Given the description of an element on the screen output the (x, y) to click on. 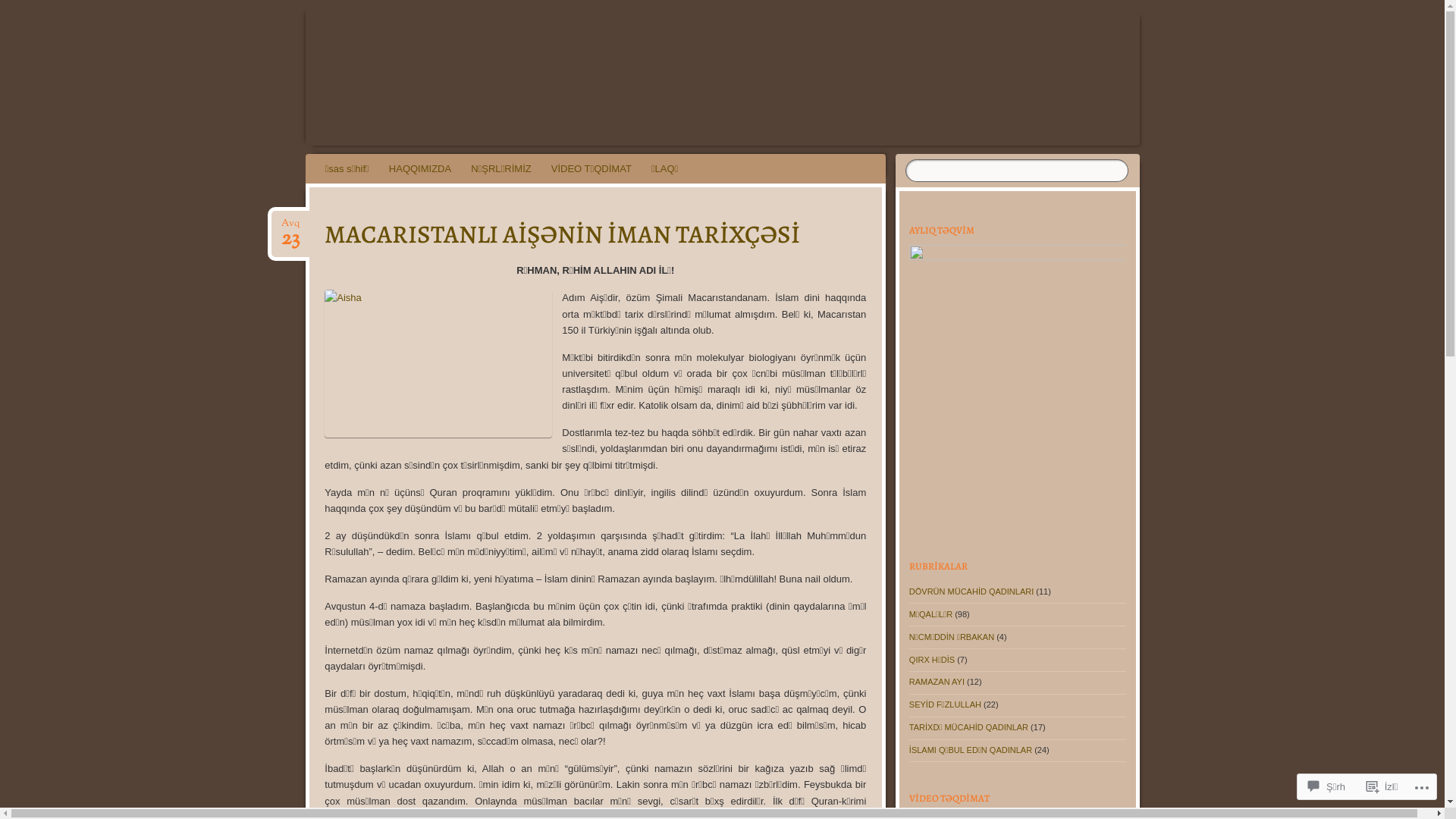
HAQQIMIZDA Element type: text (420, 168)
Avq
23 Element type: text (290, 223)
Axtar Element type: text (17, 7)
RAMAZAN AYI Element type: text (936, 681)
